Given the description of an element on the screen output the (x, y) to click on. 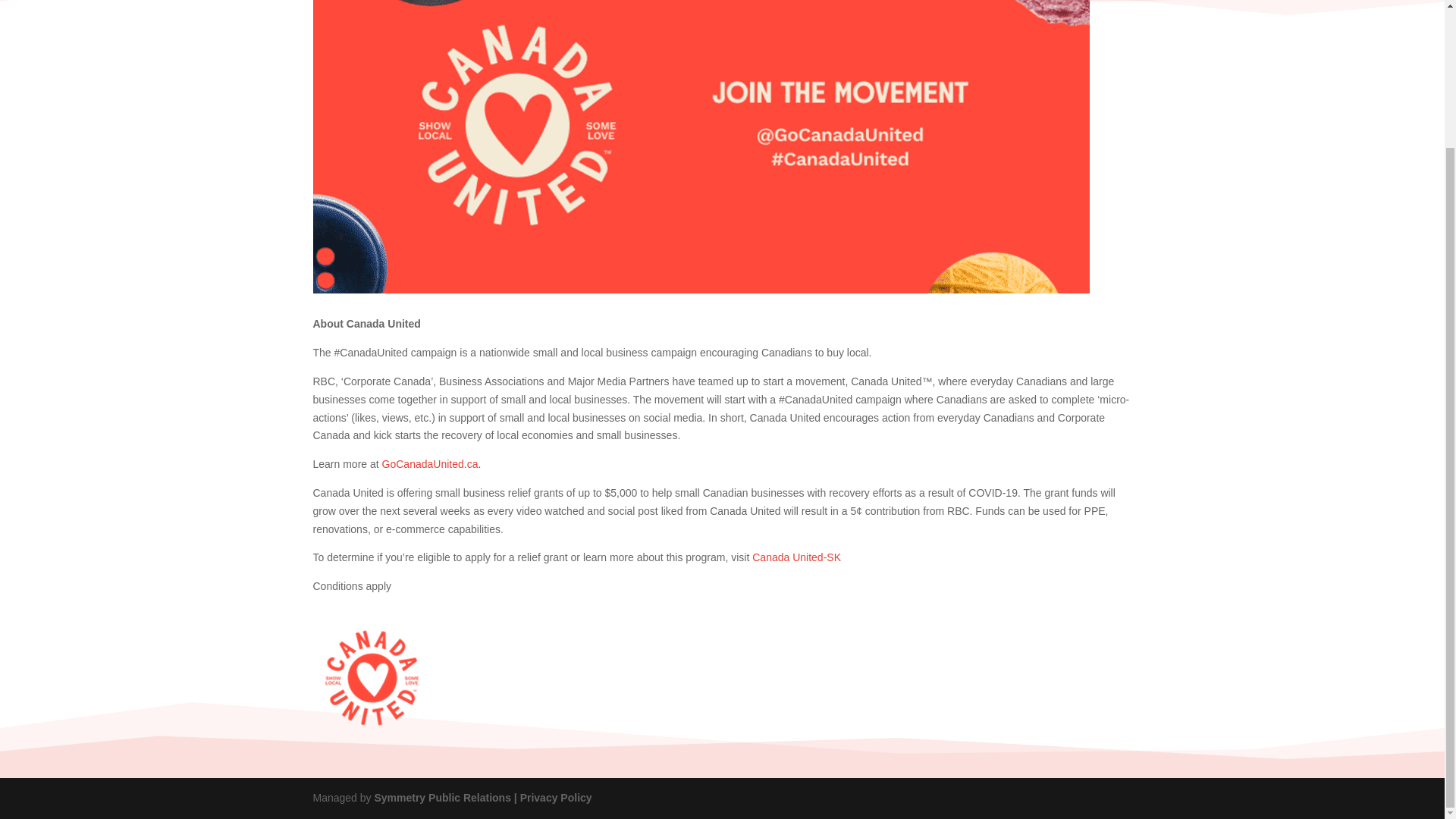
Privacy Policy (555, 797)
GoCanadaUnited.ca (430, 463)
Canada United-SK (796, 557)
